Given the description of an element on the screen output the (x, y) to click on. 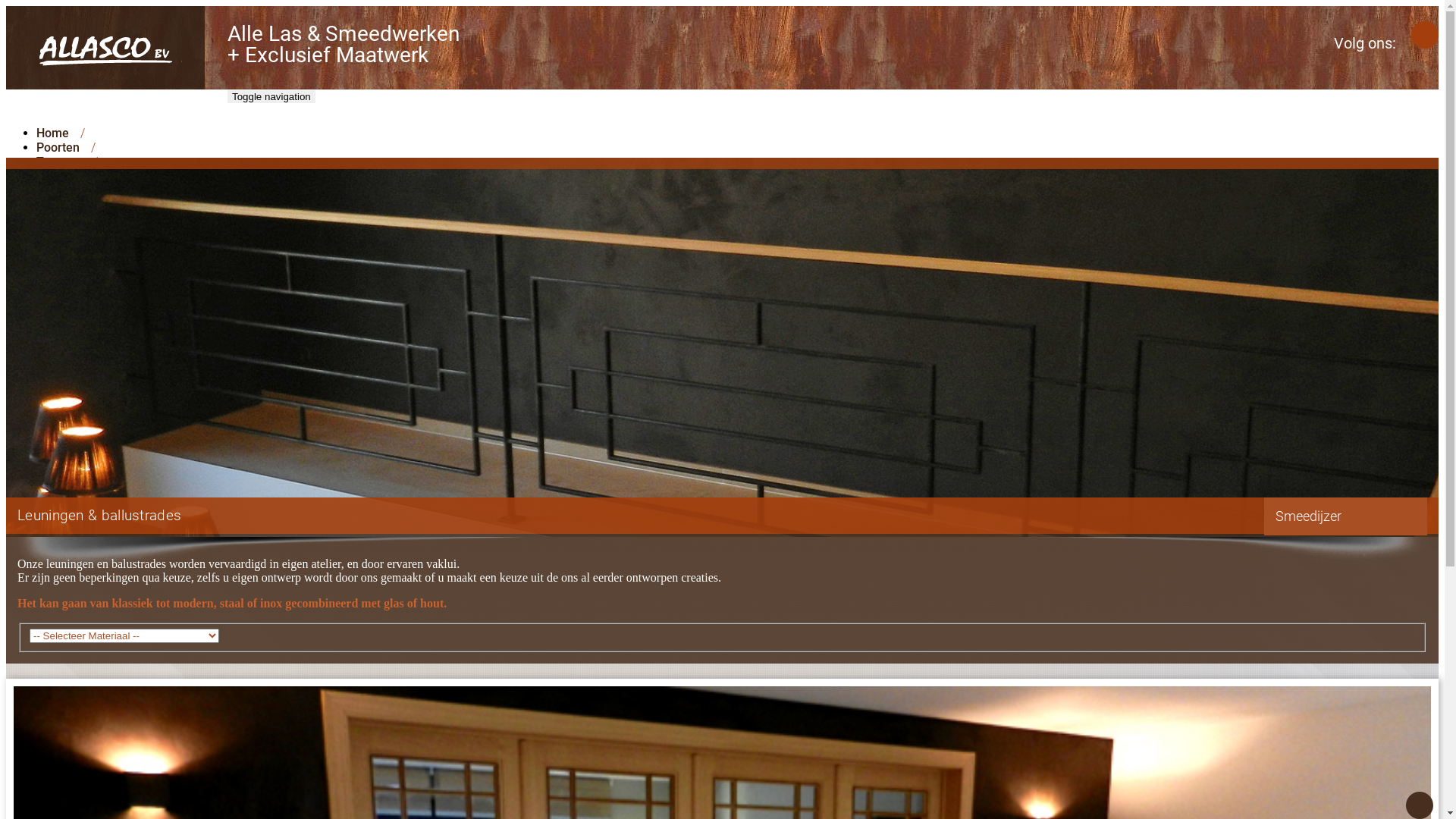
Toggle navigation Element type: text (271, 96)
Smeedijzer Element type: text (737, 204)
Leuningen & Balustrades Element type: text (737, 176)
Poorten Element type: text (737, 147)
Contact Element type: text (737, 233)
Metaal Constructies Element type: text (737, 219)
Home Element type: text (737, 132)
Trappen Element type: text (737, 161)
Inox Element type: text (737, 190)
